Given the description of an element on the screen output the (x, y) to click on. 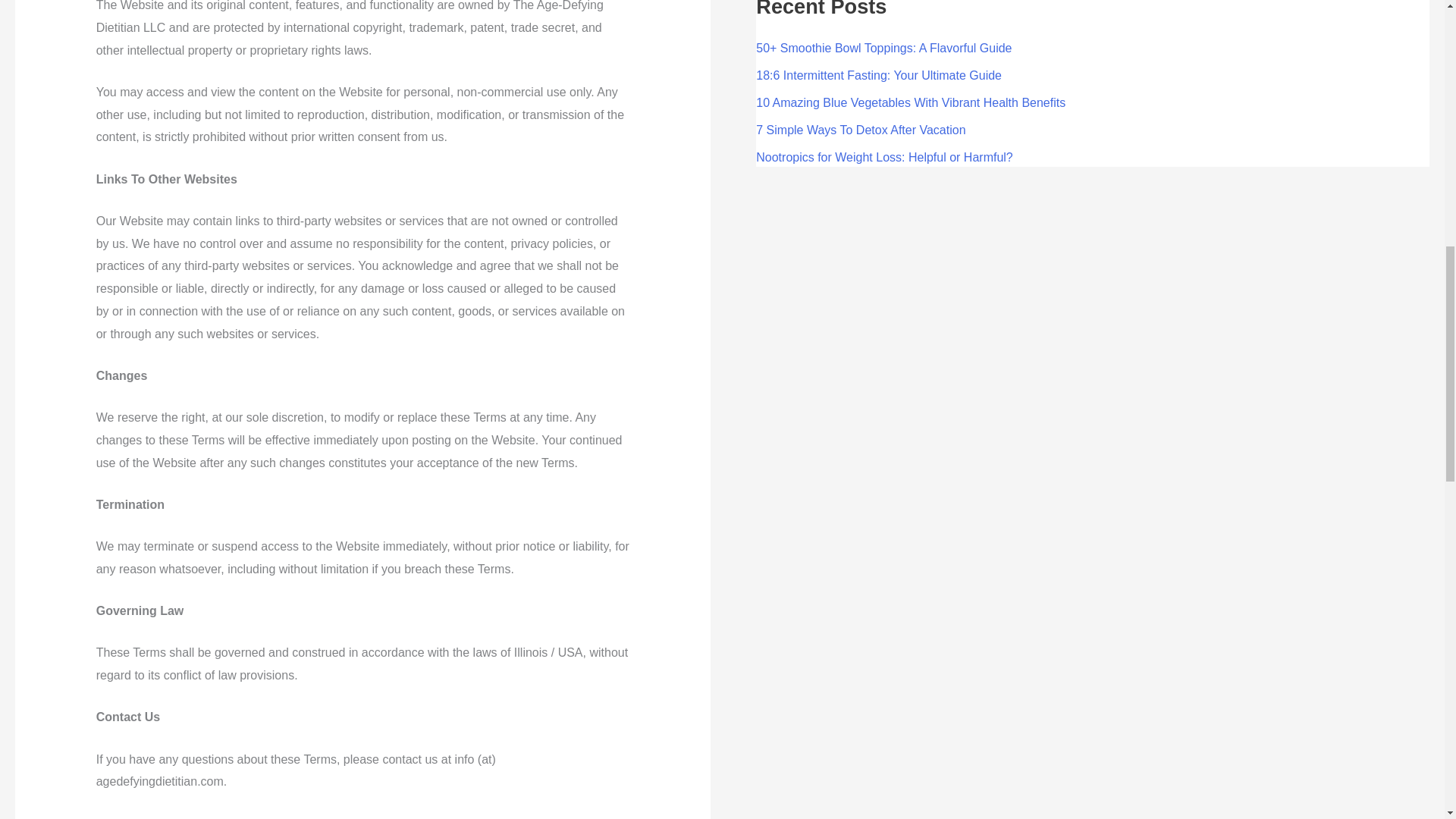
7 Simple Ways To Detox After Vacation (860, 129)
10 Amazing Blue Vegetables With Vibrant Health Benefits (910, 102)
18:6 Intermittent Fasting: Your Ultimate Guide (878, 74)
Nootropics for Weight Loss: Helpful or Harmful? (884, 156)
